Given the description of an element on the screen output the (x, y) to click on. 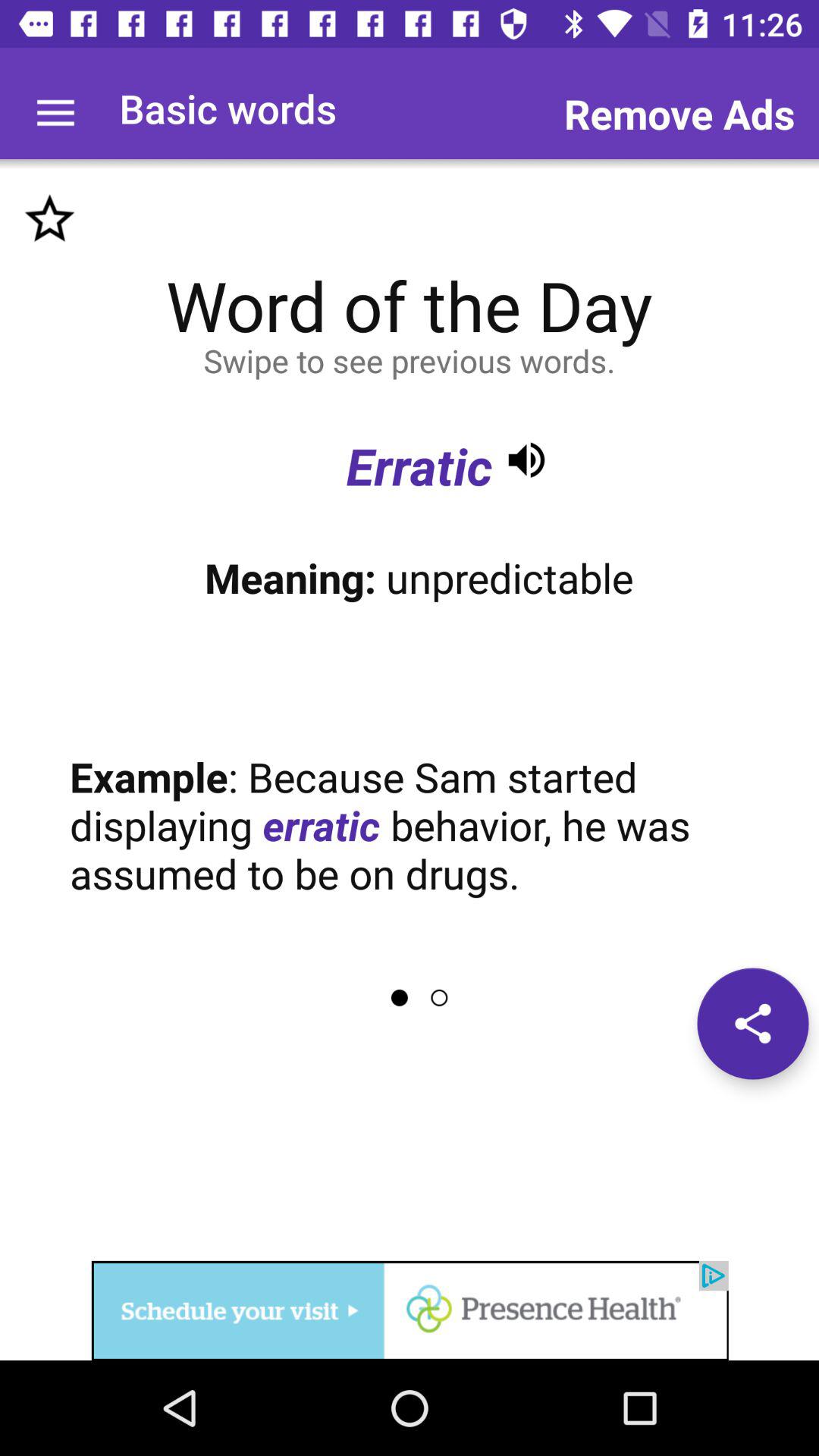
opens up sharing options (752, 1023)
